Given the description of an element on the screen output the (x, y) to click on. 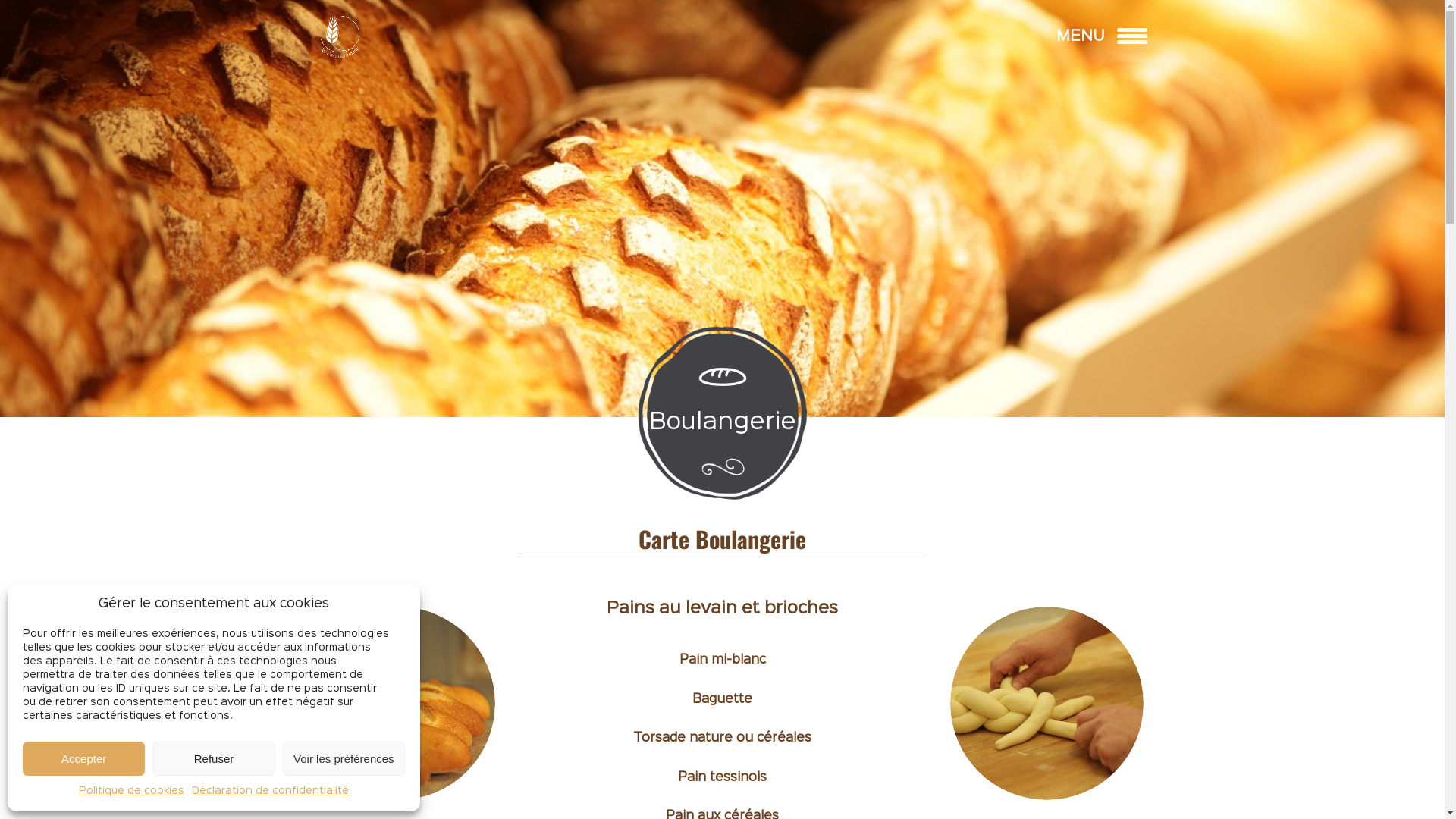
baguette-cossonay Element type: hover (398, 703)
tresse-penthalaz Element type: hover (1045, 703)
Politique de cookies Element type: text (131, 791)
Refuser Element type: text (213, 758)
Accepter Element type: text (83, 758)
